Given the description of an element on the screen output the (x, y) to click on. 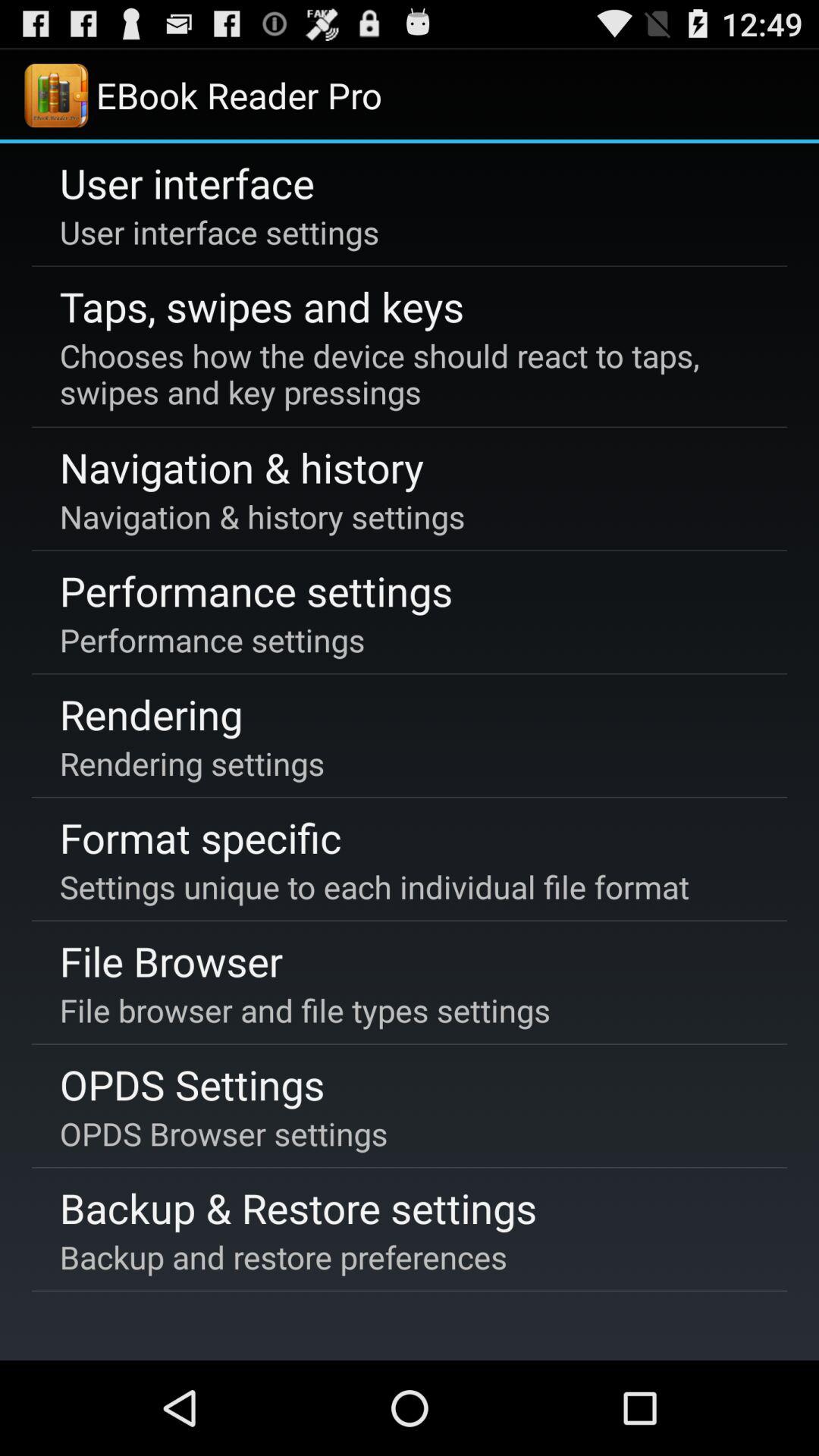
press the rendering settings app (191, 762)
